Given the description of an element on the screen output the (x, y) to click on. 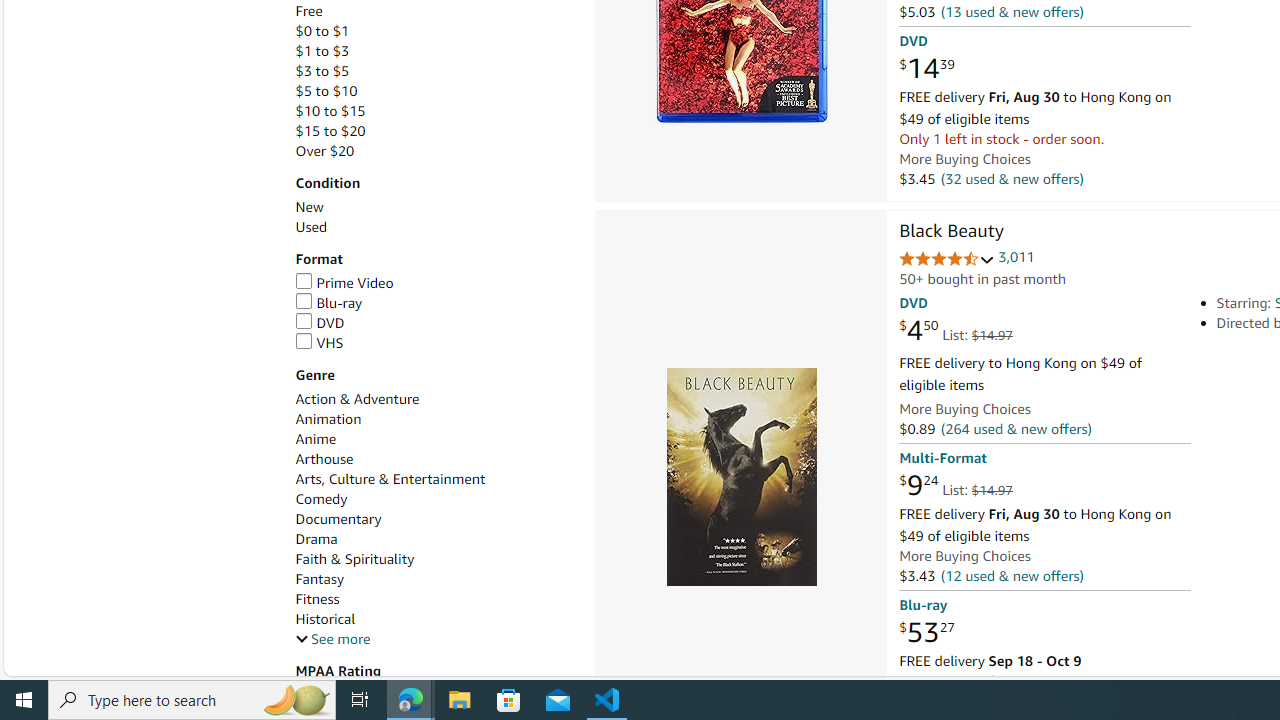
Over $20 (434, 151)
Used (310, 227)
Faith & Spirituality (354, 559)
$53.27 (926, 632)
Animation (328, 419)
$4.50 List: $14.97 (955, 331)
$0 to $1 (321, 31)
Skip to main search results (88, 666)
$10 to $15 (330, 111)
Free (308, 11)
Arts, Culture & Entertainment (434, 479)
Historical (434, 619)
DVD (319, 322)
